Given the description of an element on the screen output the (x, y) to click on. 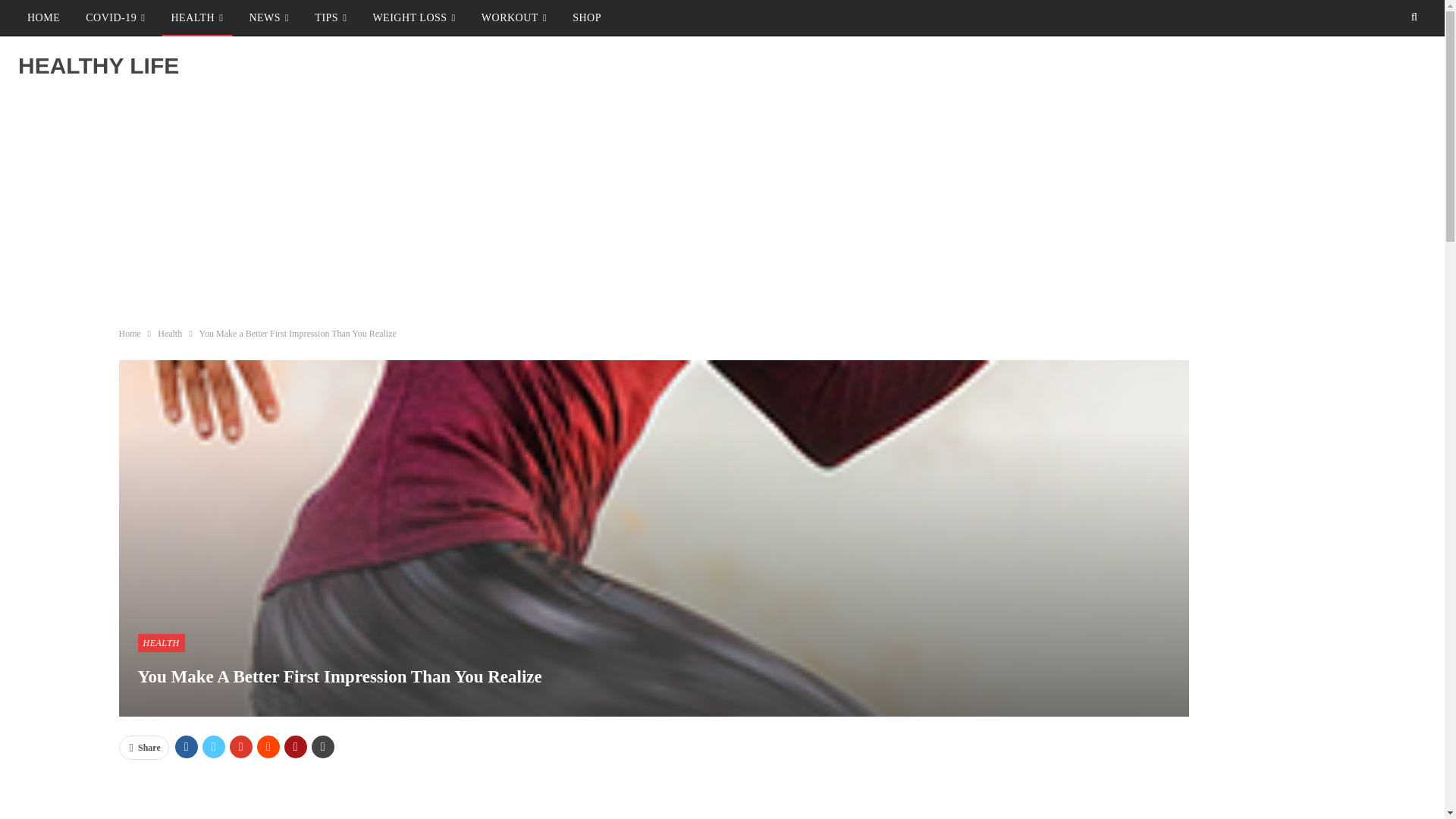
NEWS (269, 18)
HEALTH (196, 18)
COVID-19 (115, 18)
HOME (42, 18)
